Given the description of an element on the screen output the (x, y) to click on. 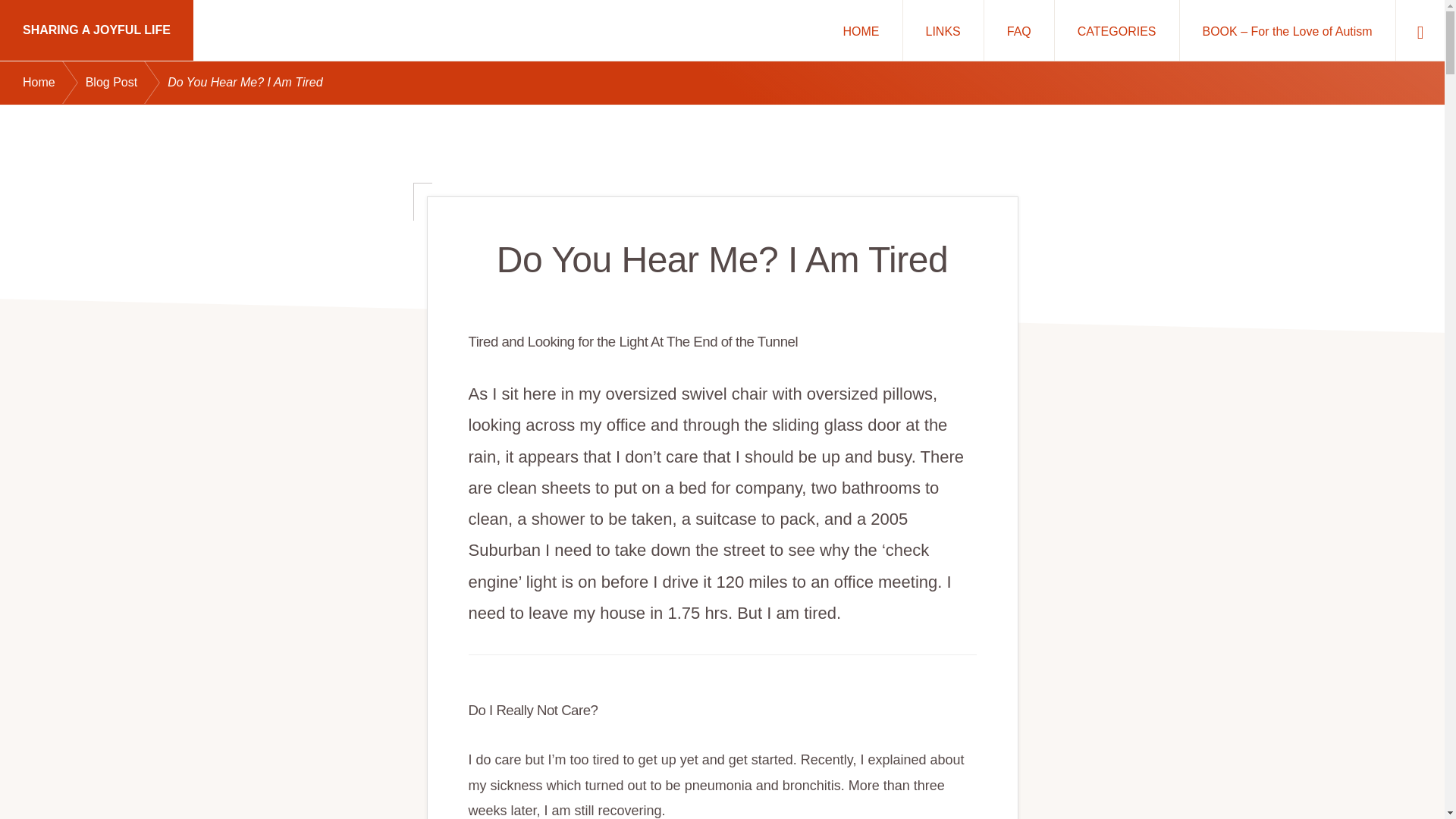
Home (861, 30)
FAQ (1019, 30)
LINKS (943, 30)
SHARING A JOYFUL LIFE (96, 30)
HOME (861, 30)
Home (54, 82)
Blog Post (126, 82)
CATEGORIES (1116, 30)
Show Search (1420, 30)
